Given the description of an element on the screen output the (x, y) to click on. 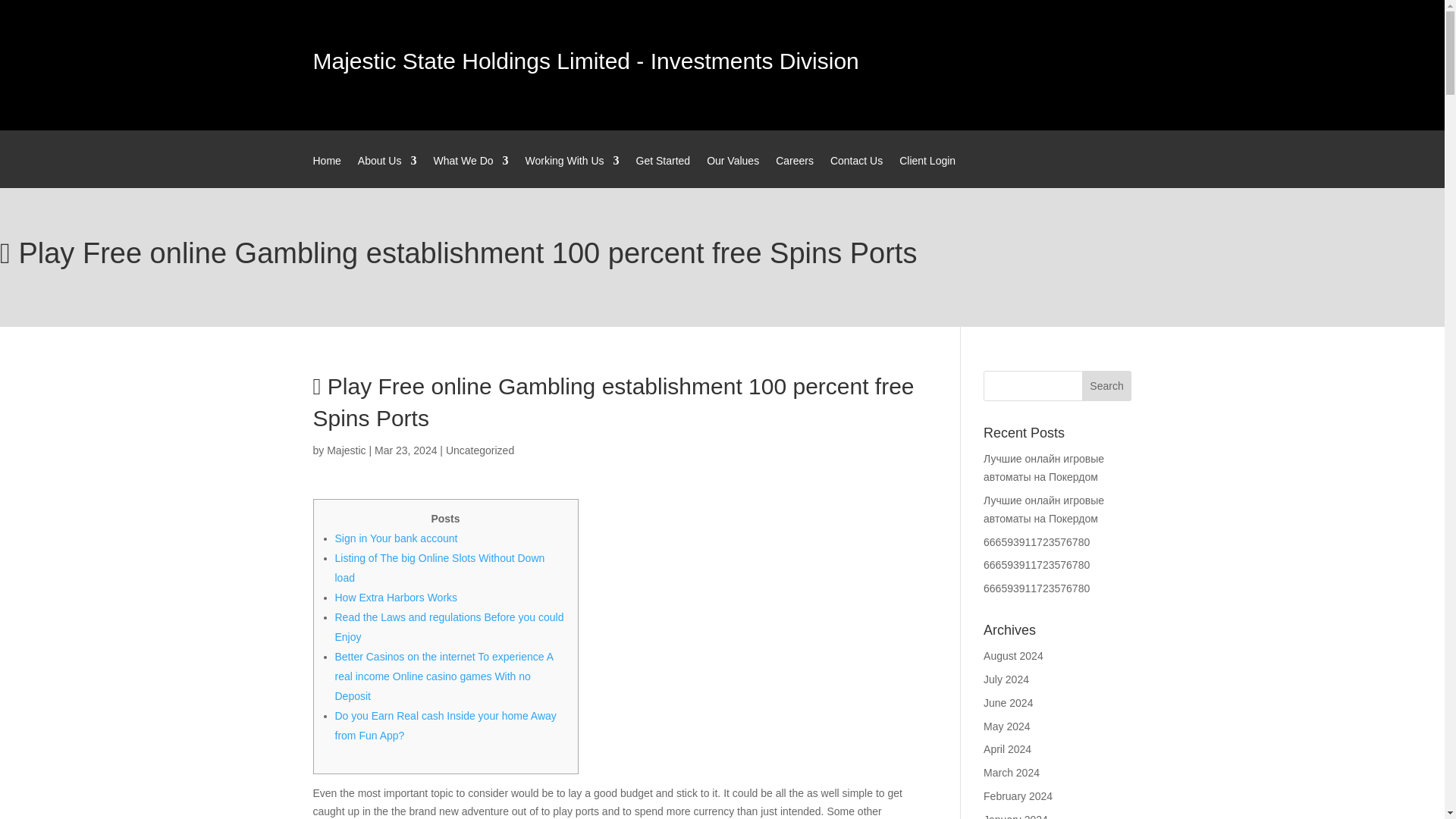
Majestic (345, 450)
What We Do (470, 171)
Sign in Your bank account (396, 538)
Working With Us (572, 171)
Get Started (663, 171)
Careers (794, 171)
Contact Us (855, 171)
Search (1106, 386)
Posts by Majestic (345, 450)
About Us (387, 171)
